Given the description of an element on the screen output the (x, y) to click on. 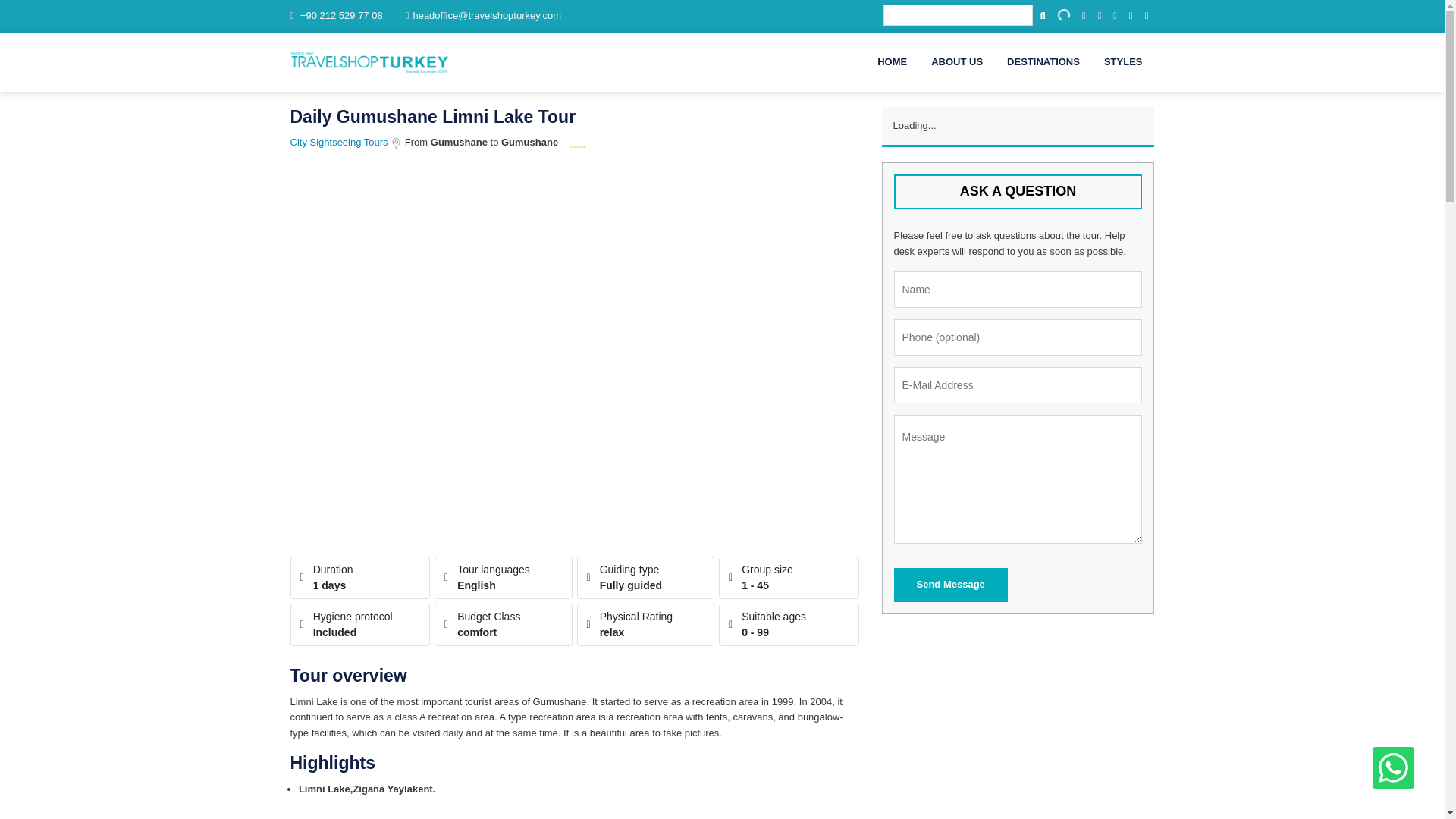
DESTINATIONS (1043, 62)
Send Message (950, 584)
Send Message (950, 584)
Created with Sketch. (395, 143)
City Sightseeing Tours (339, 142)
Rated 5 out of 5 (577, 142)
